Given the description of an element on the screen output the (x, y) to click on. 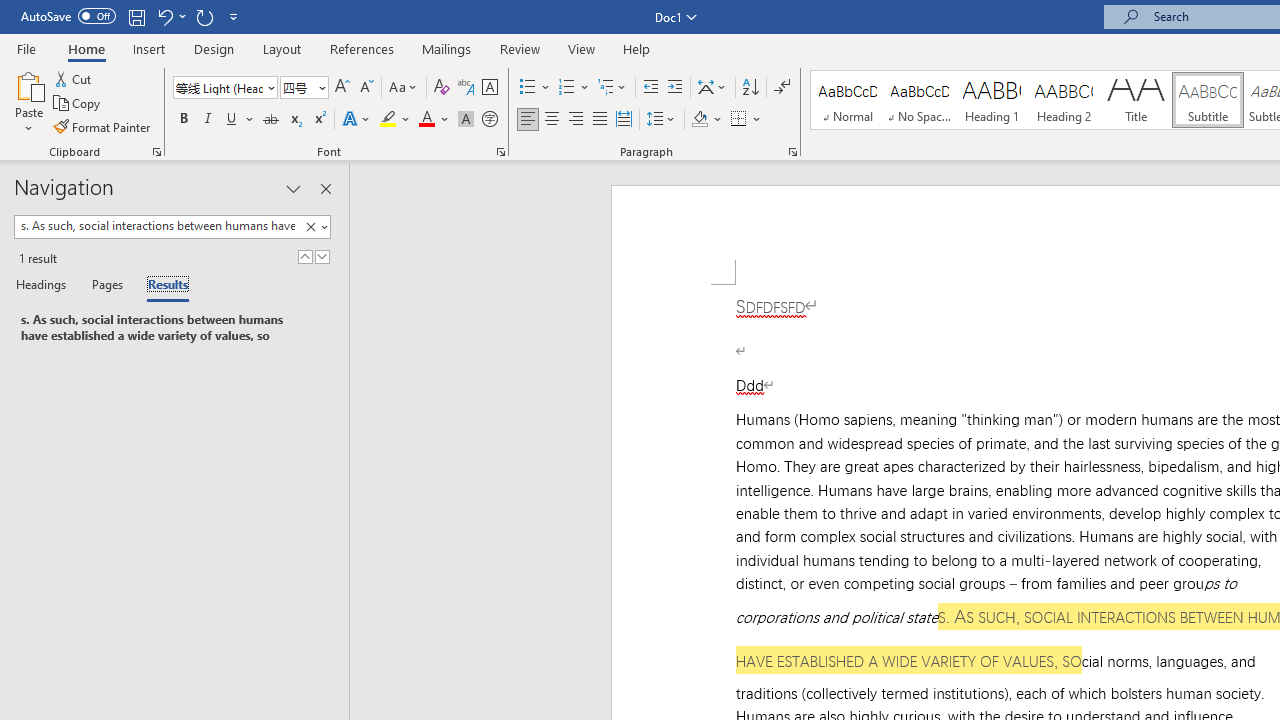
Previous Result (304, 256)
Next Result (322, 256)
Repeat Style (204, 15)
